Given the description of an element on the screen output the (x, y) to click on. 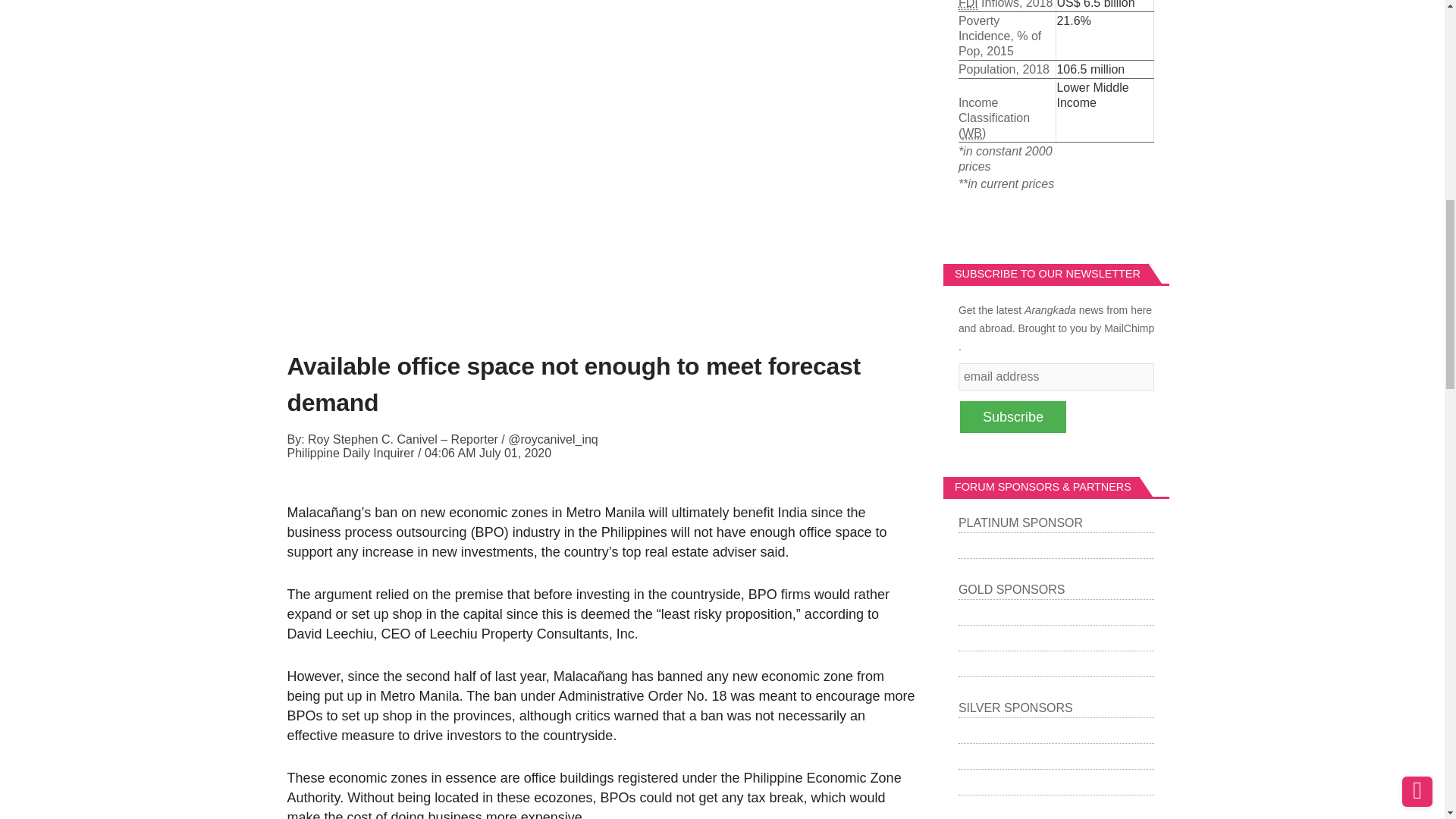
Foreign Direct Investment (968, 4)
Subscribe (1012, 417)
World Bank (971, 133)
